Given the description of an element on the screen output the (x, y) to click on. 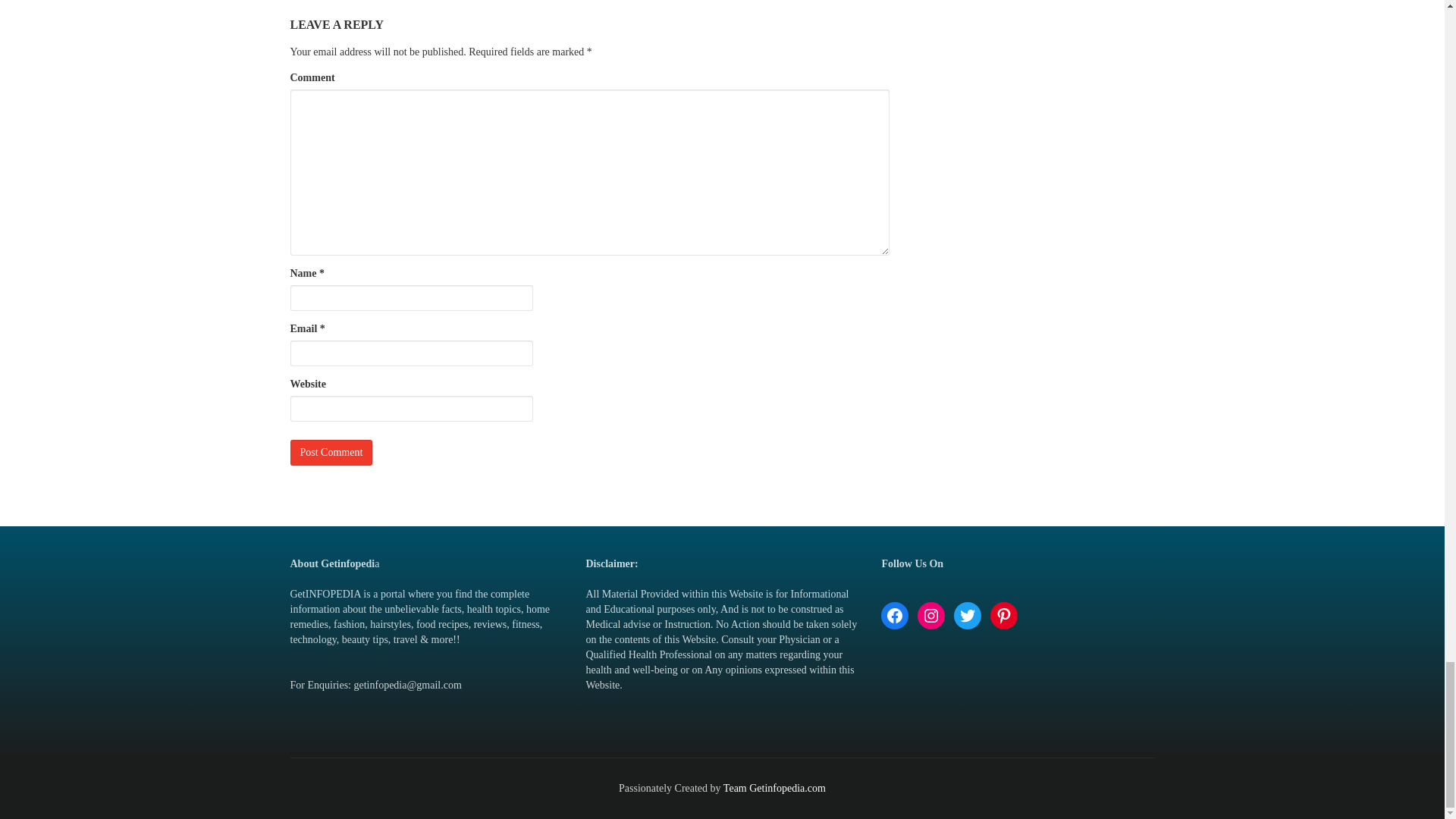
Post Comment (330, 452)
